Given the description of an element on the screen output the (x, y) to click on. 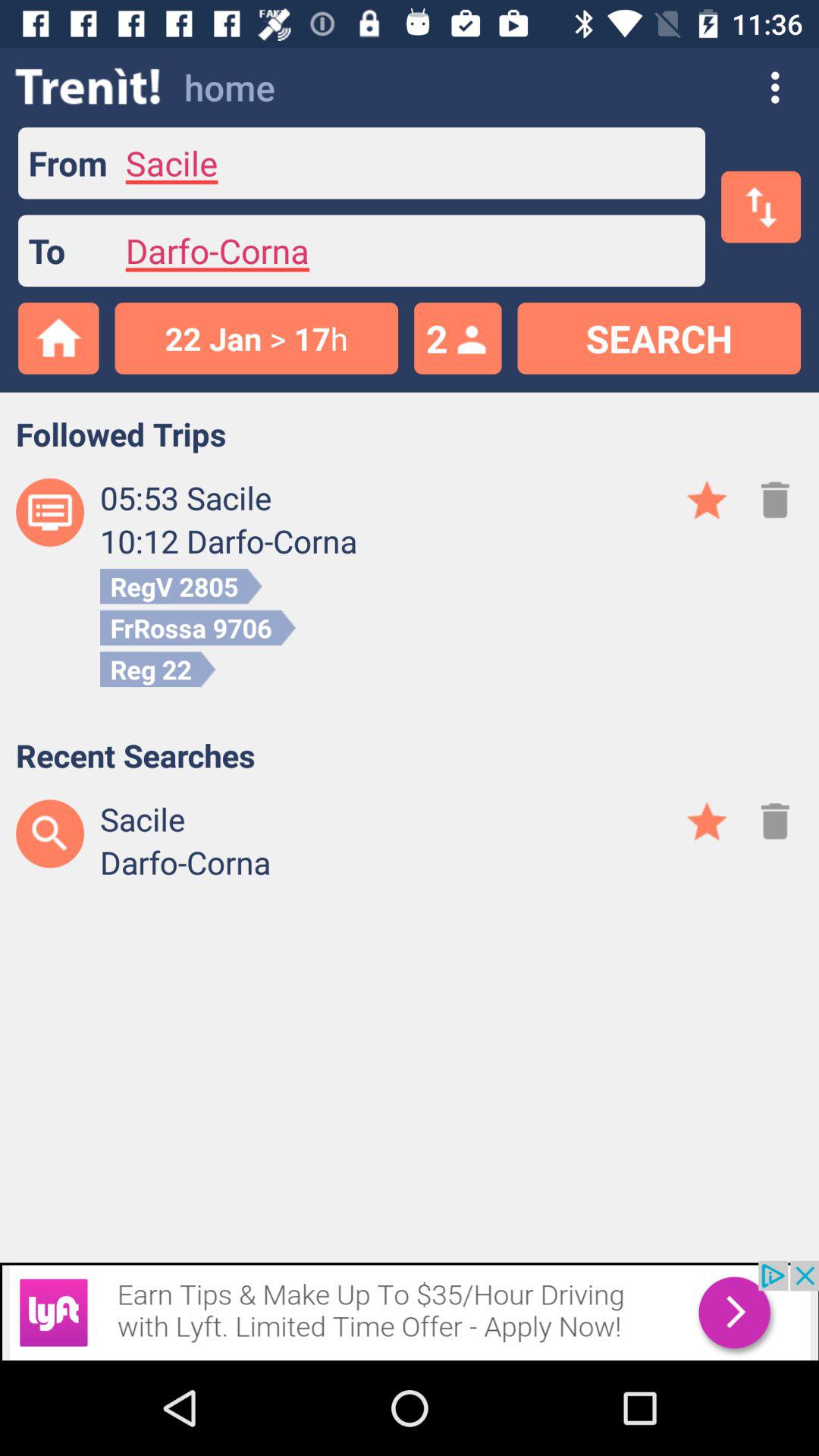
in app advertisement (409, 1310)
